Given the description of an element on the screen output the (x, y) to click on. 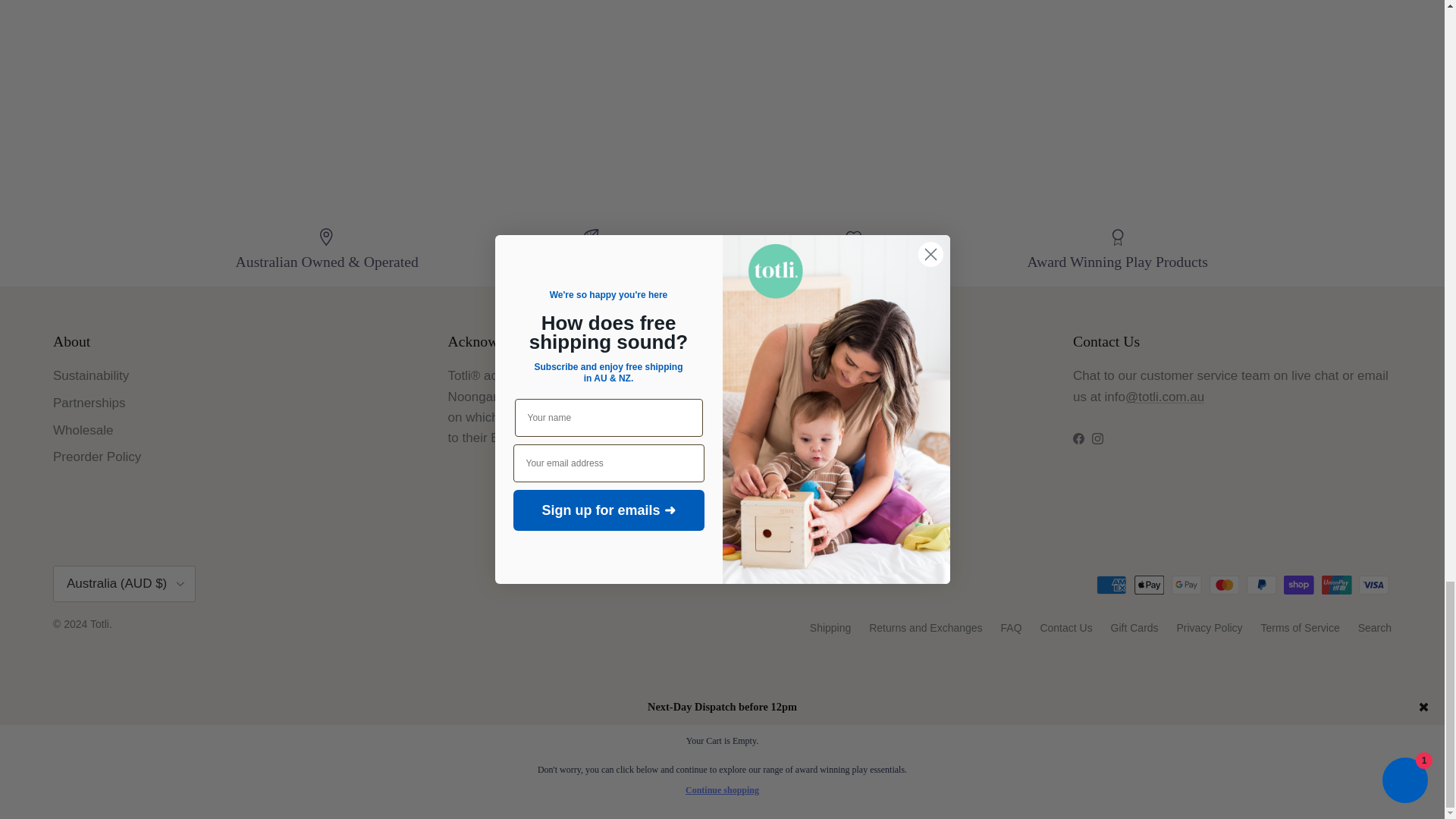
Contact Us (1164, 396)
Totli on Instagram (1097, 438)
Totli on Facebook (1078, 438)
